Given the description of an element on the screen output the (x, y) to click on. 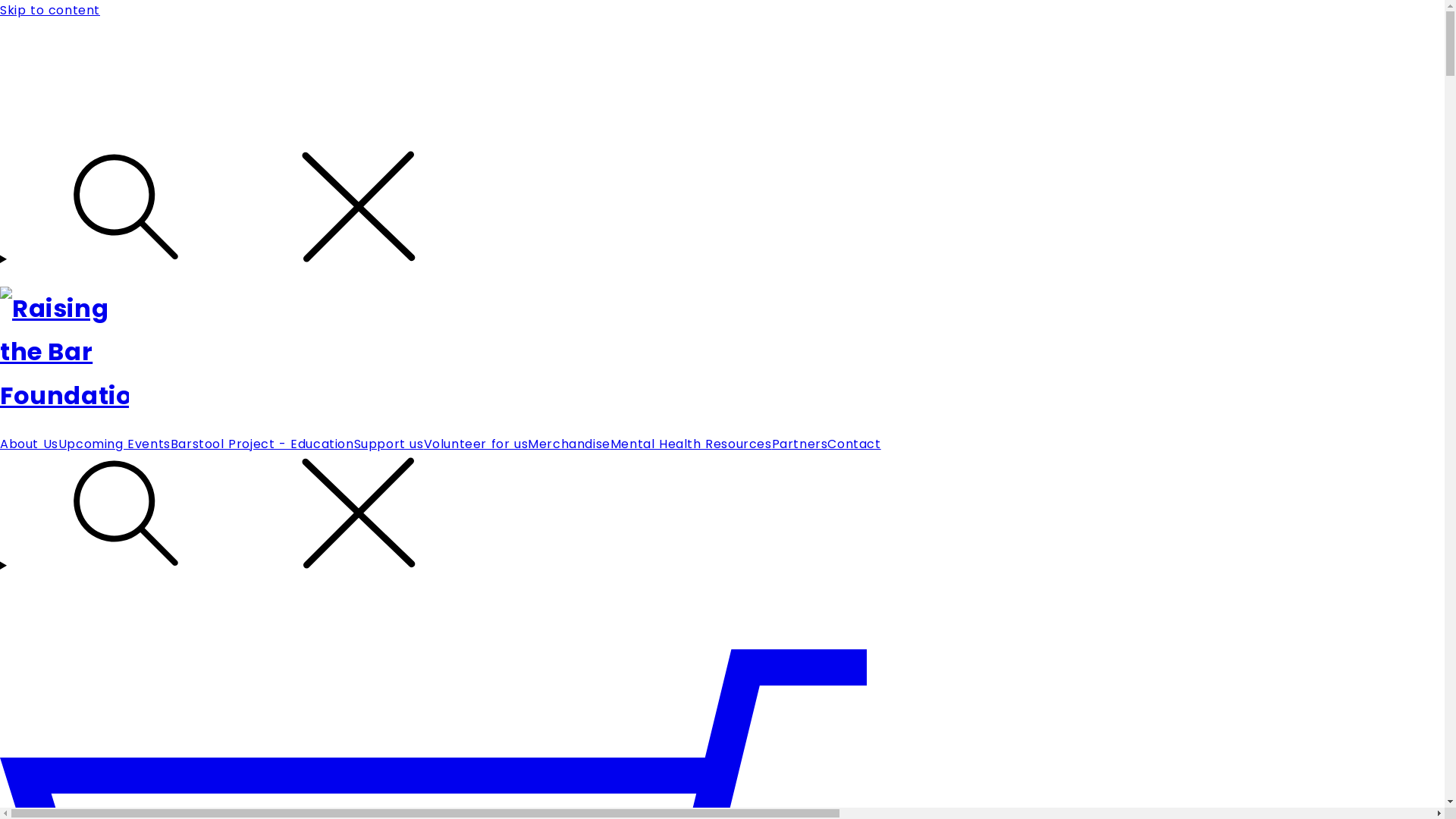
Barstool Project - Education Element type: text (262, 444)
Contact Element type: text (853, 444)
Partners Element type: text (799, 444)
Support us Element type: text (388, 444)
Merchandise Element type: text (568, 444)
About Us Element type: text (29, 444)
Upcoming Events Element type: text (114, 444)
Volunteer for us Element type: text (475, 444)
Skip to content Element type: text (722, 10)
Mental Health Resources Element type: text (690, 444)
